Given the description of an element on the screen output the (x, y) to click on. 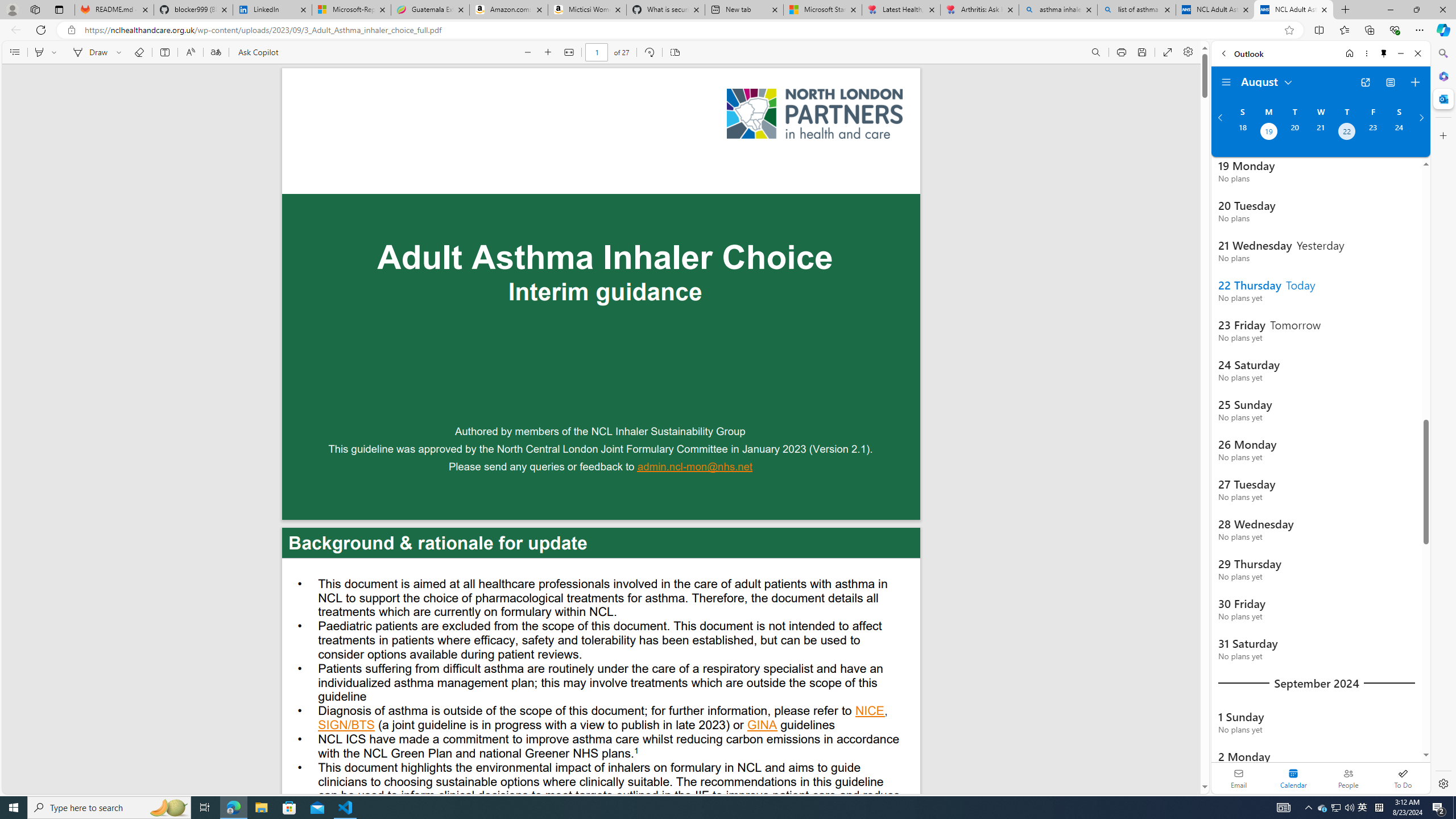
Saturday, August 24, 2024.  (1399, 132)
Save (Ctrl+S) (1142, 52)
Translate (215, 52)
Settings and more (1187, 52)
Unlabeled graphic (814, 114)
Open in new tab (1365, 82)
